Given the description of an element on the screen output the (x, y) to click on. 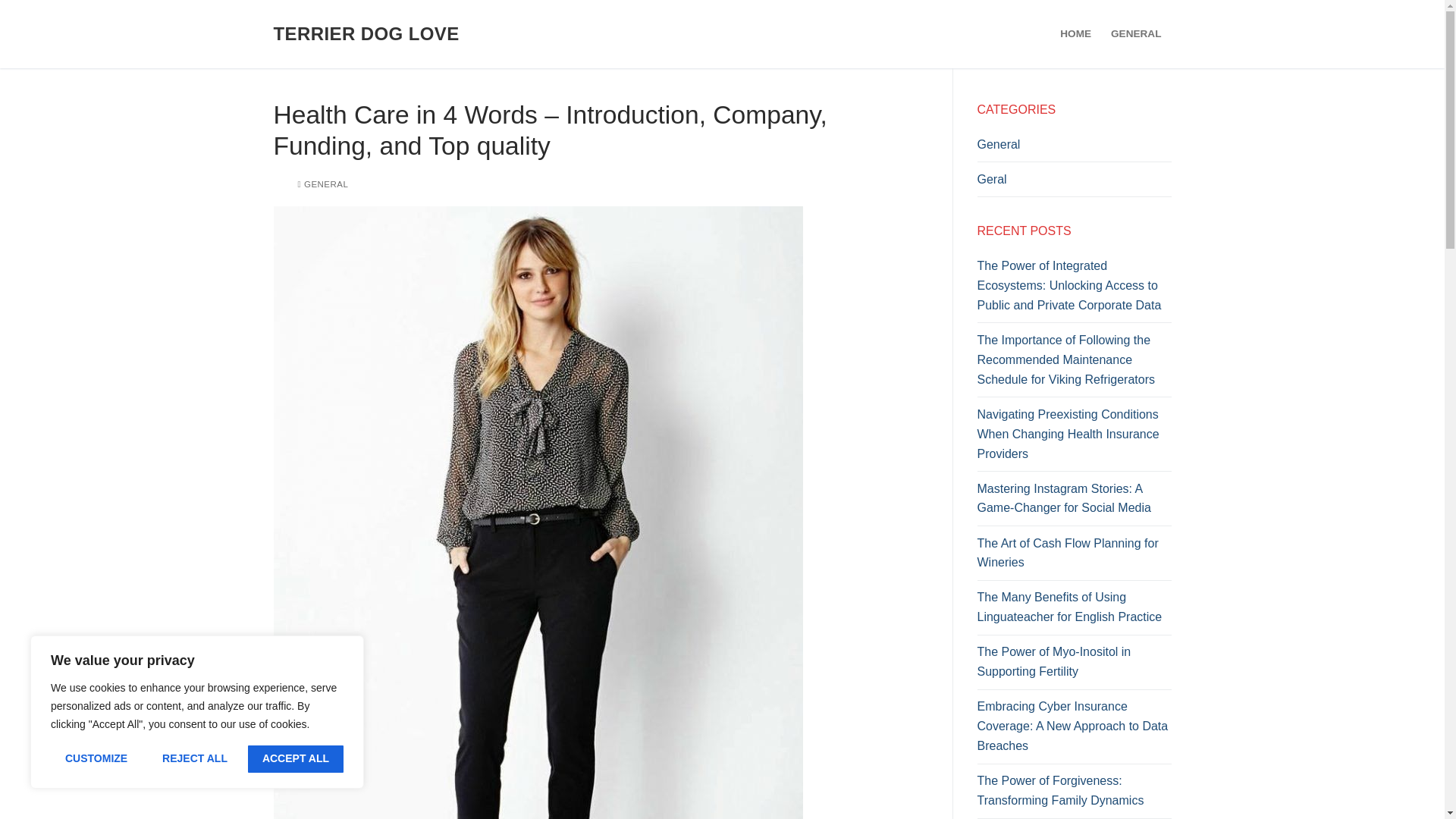
The Art of Cash Flow Planning for Wineries (1073, 556)
Mastering Instagram Stories: A Game-Changer for Social Media (1073, 502)
CUSTOMIZE (95, 759)
GENERAL (1135, 33)
GENERAL (322, 184)
REJECT ALL (194, 759)
TERRIER DOG LOVE (365, 33)
Geral (1073, 183)
